Given the description of an element on the screen output the (x, y) to click on. 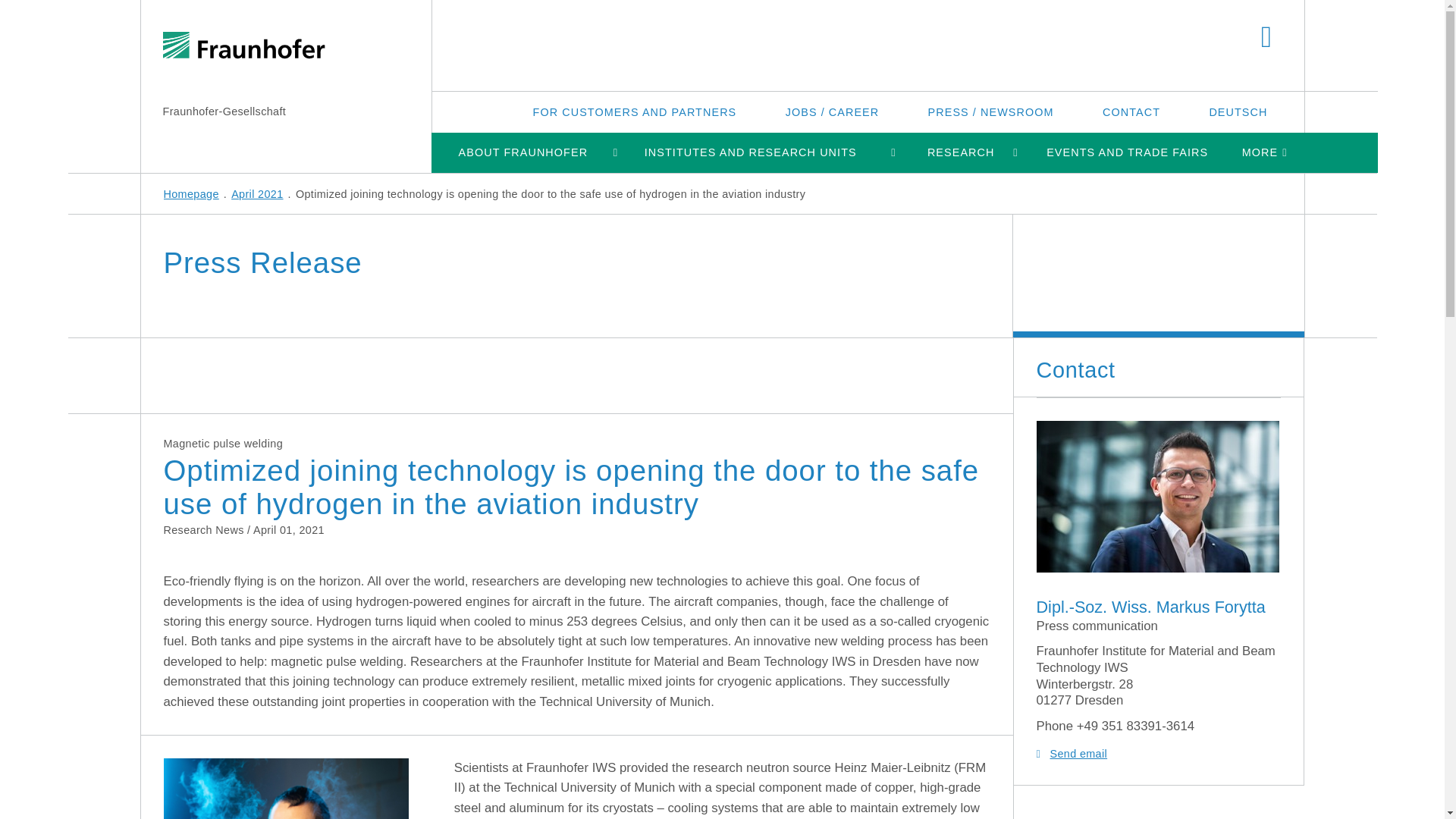
ABOUT FRAUNHOFER (522, 151)
Fraunhofer-Gesellschaft (223, 111)
DEUTSCH (1238, 111)
CONTACT (1131, 111)
SEARCH (1266, 37)
FOR CUSTOMERS AND PARTNERS (635, 111)
